Given the description of an element on the screen output the (x, y) to click on. 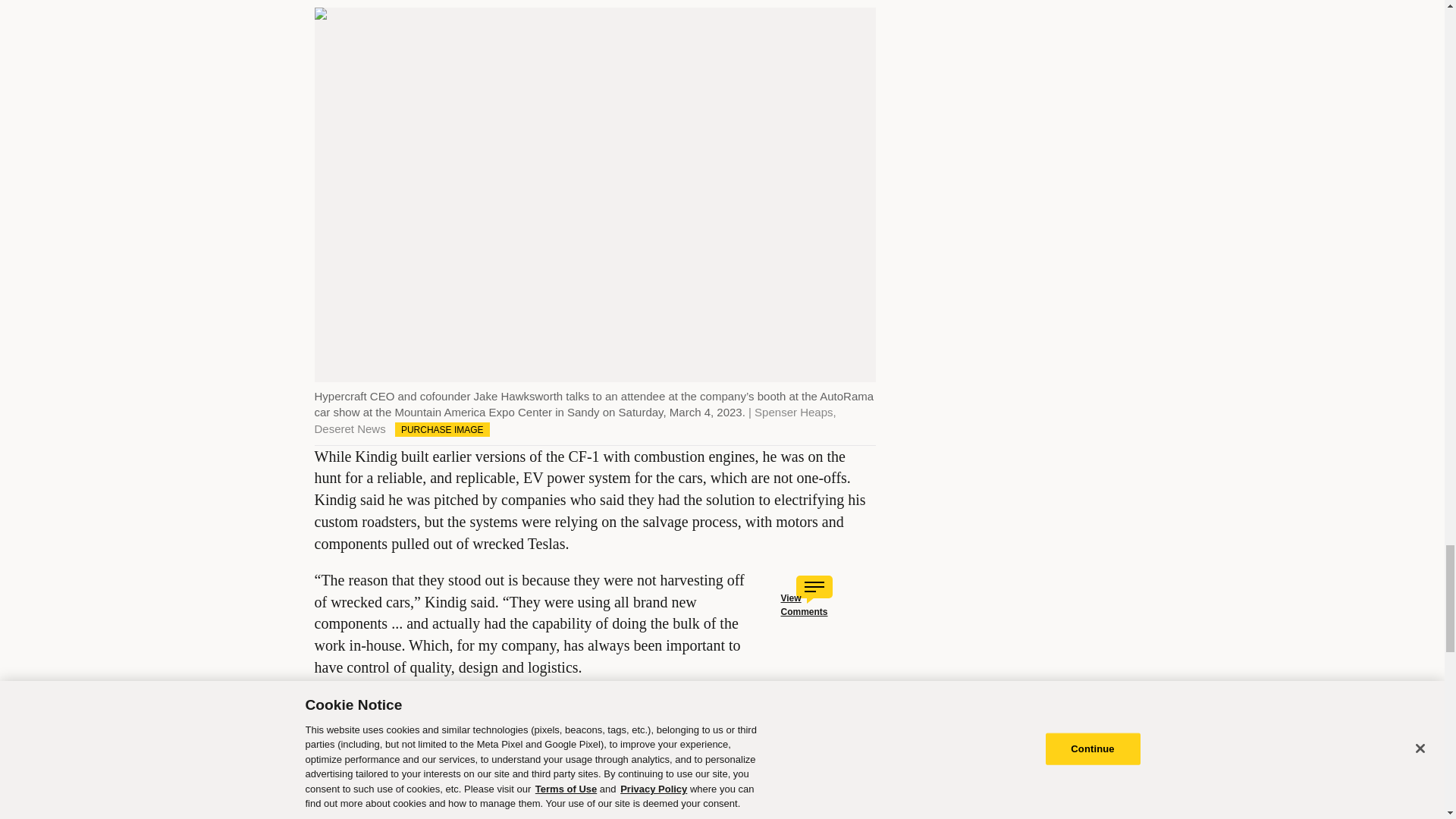
PURCHASE IMAGE (441, 429)
